Given the description of an element on the screen output the (x, y) to click on. 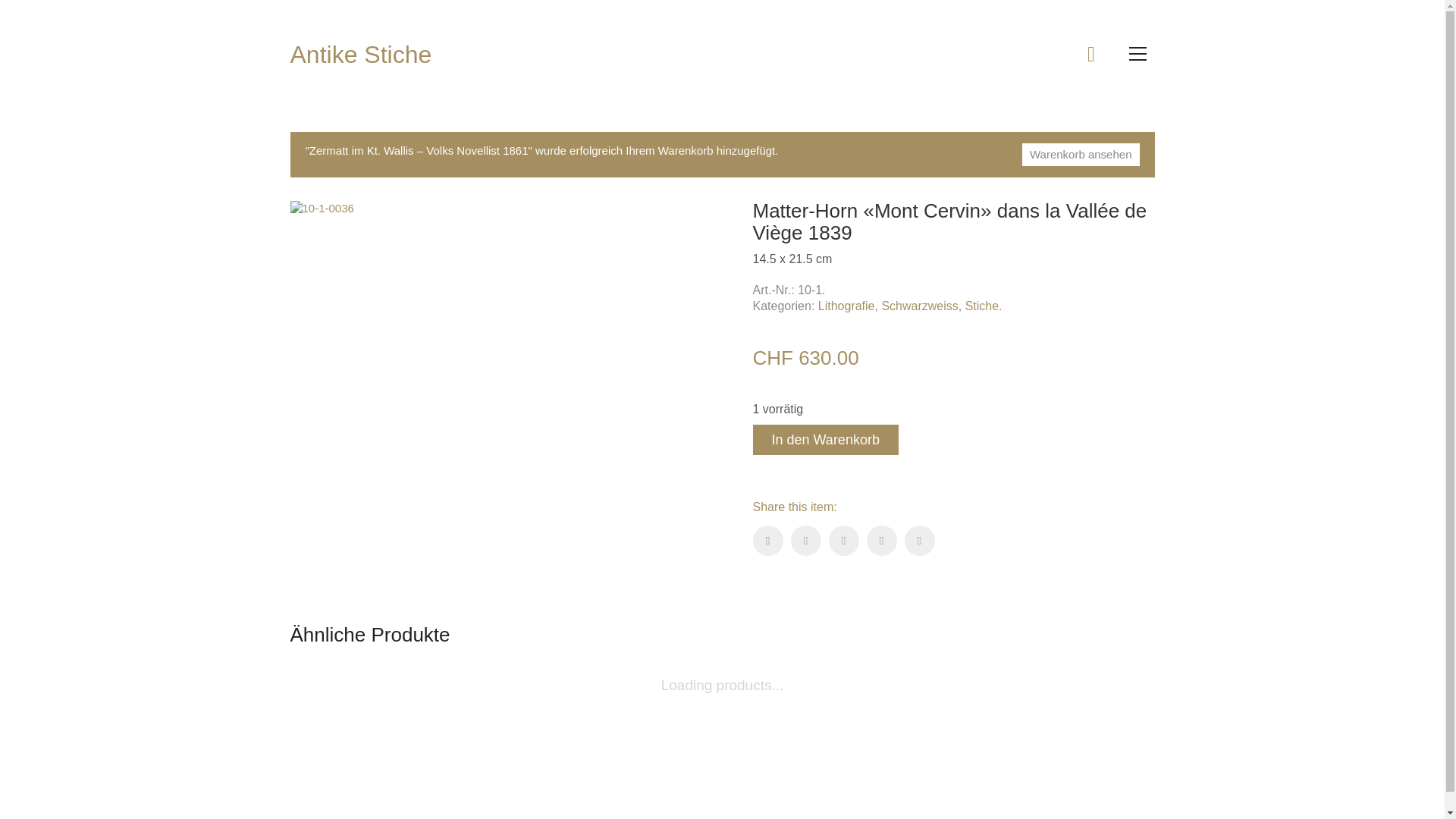
In den Warenkorb Element type: text (824, 439)
Antike Stiche Element type: text (360, 54)
10-1-0036 Element type: hover (321, 208)
Schwarzweiss Element type: text (919, 305)
Lithografie Element type: text (846, 305)
Stiche Element type: text (981, 305)
Warenkorb ansehen Element type: text (1080, 154)
Go Element type: text (162, 18)
